Given the description of an element on the screen output the (x, y) to click on. 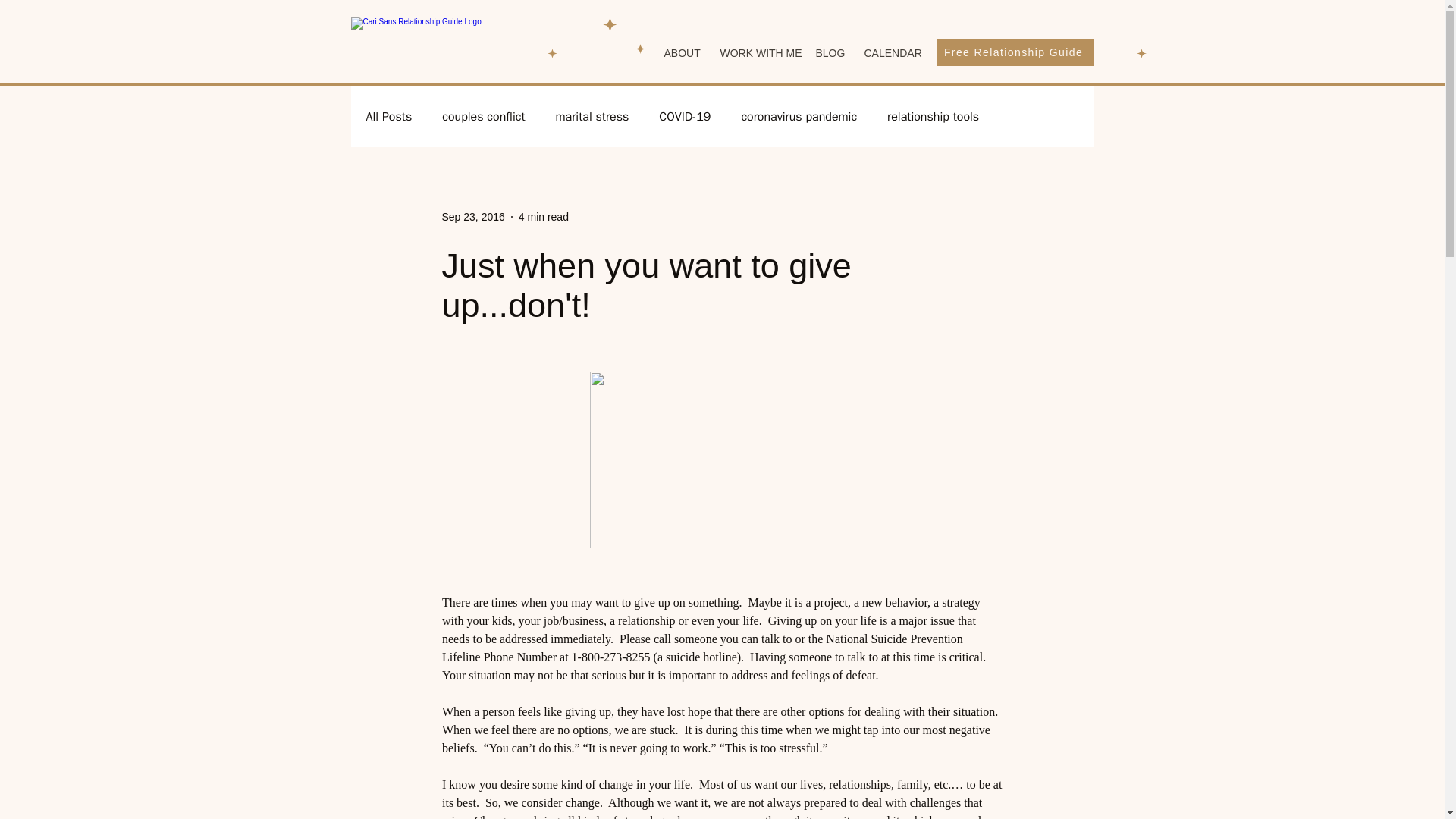
couples conflict (483, 116)
ABOUT (679, 53)
Sep 23, 2016 (472, 216)
Free Relationship Guide (1014, 52)
4 min read (543, 216)
relationship tools (932, 116)
BLOG (827, 53)
marital stress (591, 116)
All Posts (388, 116)
coronavirus pandemic (799, 116)
